Given the description of an element on the screen output the (x, y) to click on. 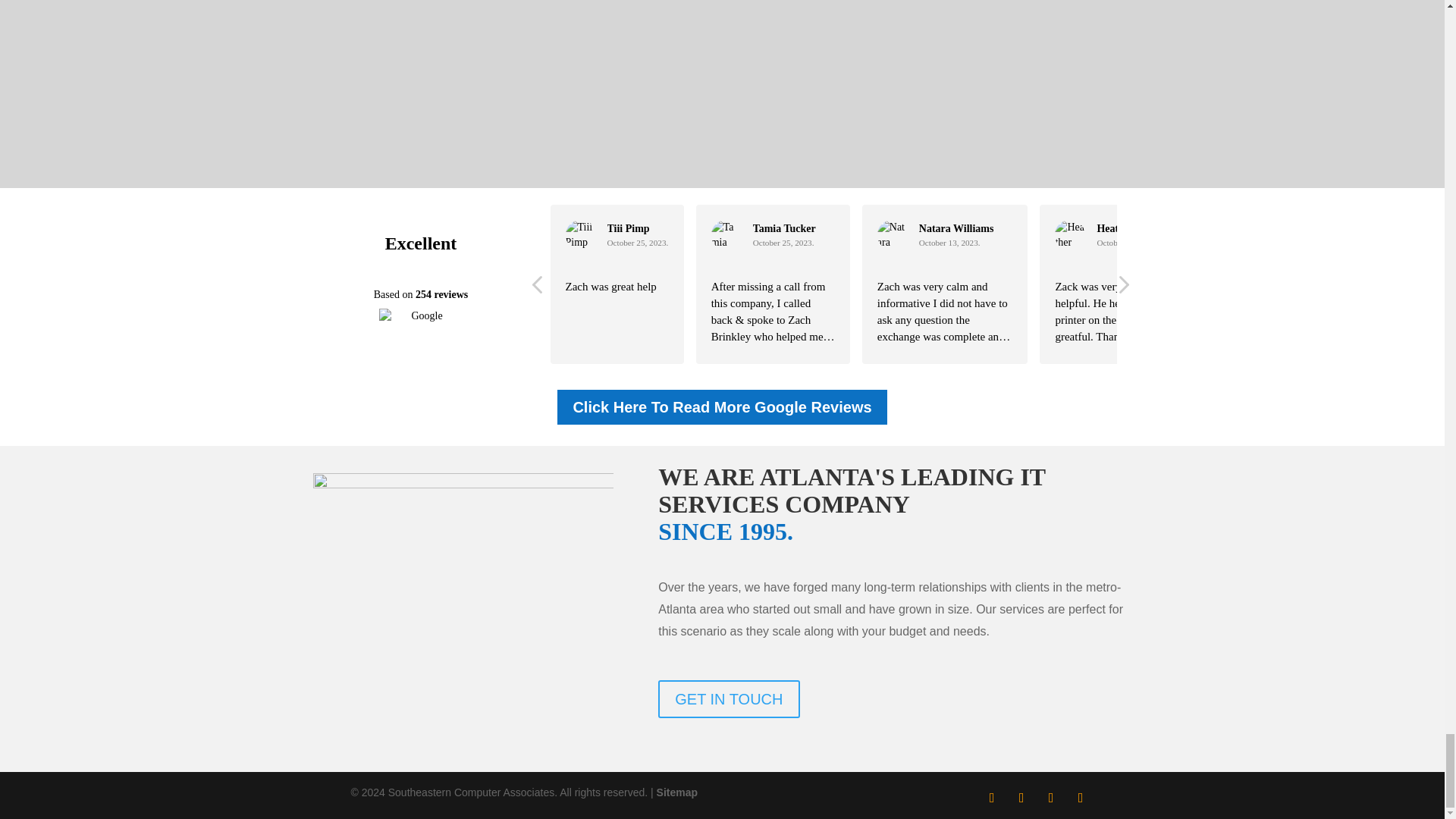
Click Here To Read More Google Reviews (722, 406)
GET IN TOUCH (728, 699)
Sitemap (676, 792)
